Given the description of an element on the screen output the (x, y) to click on. 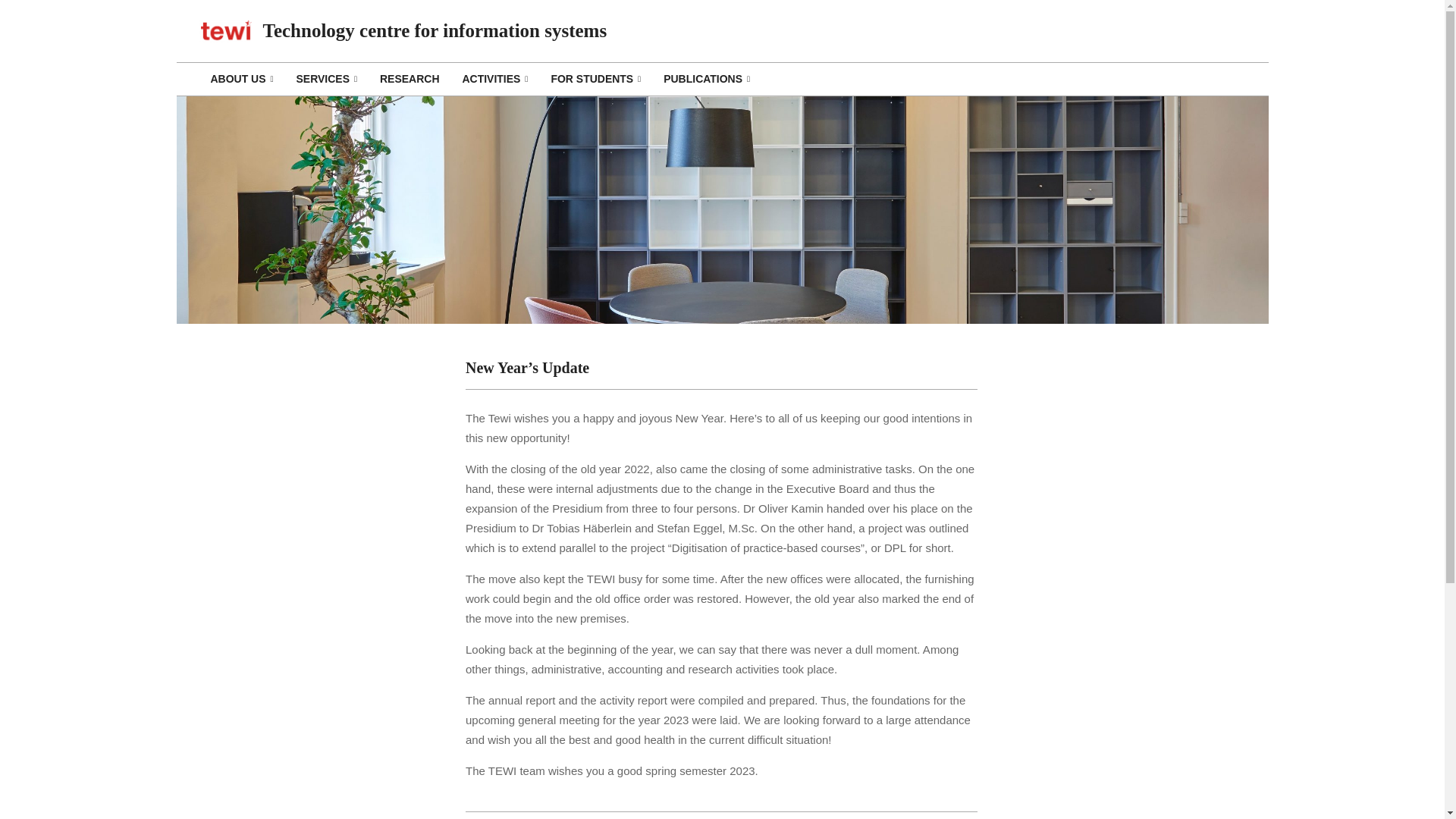
SERVICES (326, 79)
RESEARCH (408, 79)
Technology centre for information systems (434, 30)
ABOUT US (240, 79)
ACTIVITIES (493, 79)
FOR STUDENTS (595, 79)
